Given the description of an element on the screen output the (x, y) to click on. 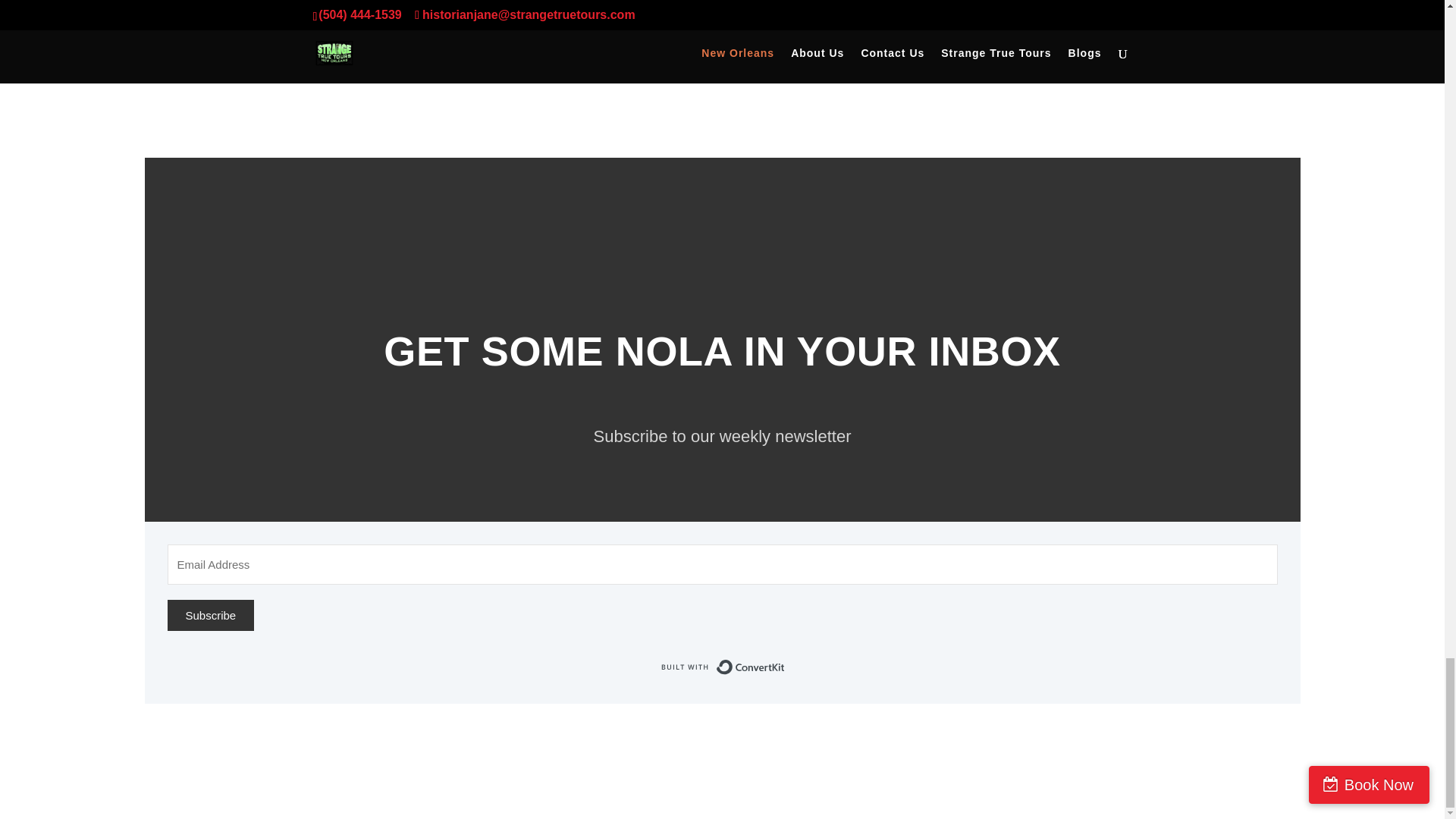
Submit (1099, 28)
Subscribe (210, 614)
Built with ConvertKit (722, 666)
